Given the description of an element on the screen output the (x, y) to click on. 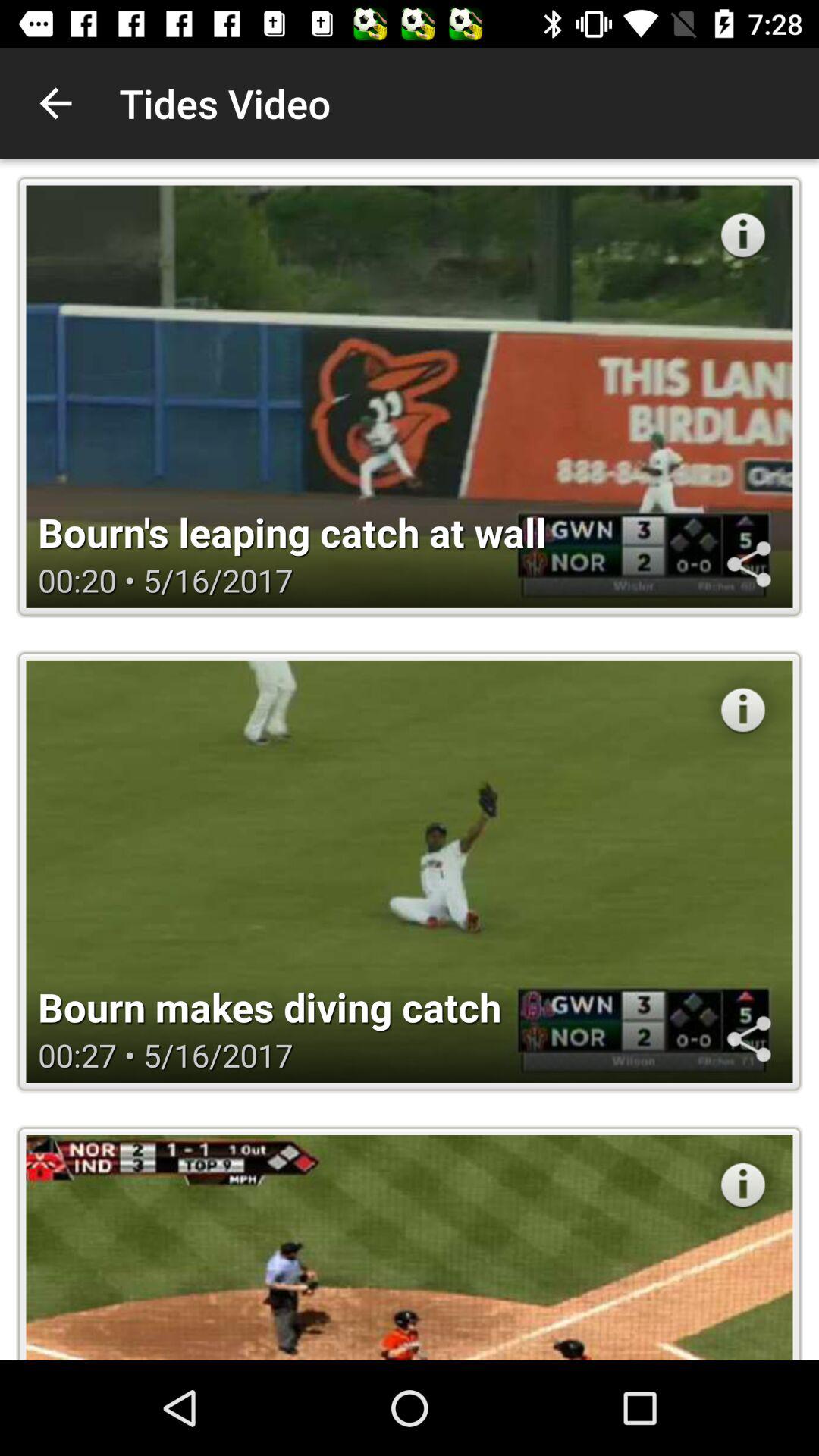
share the article (748, 1038)
